Given the description of an element on the screen output the (x, y) to click on. 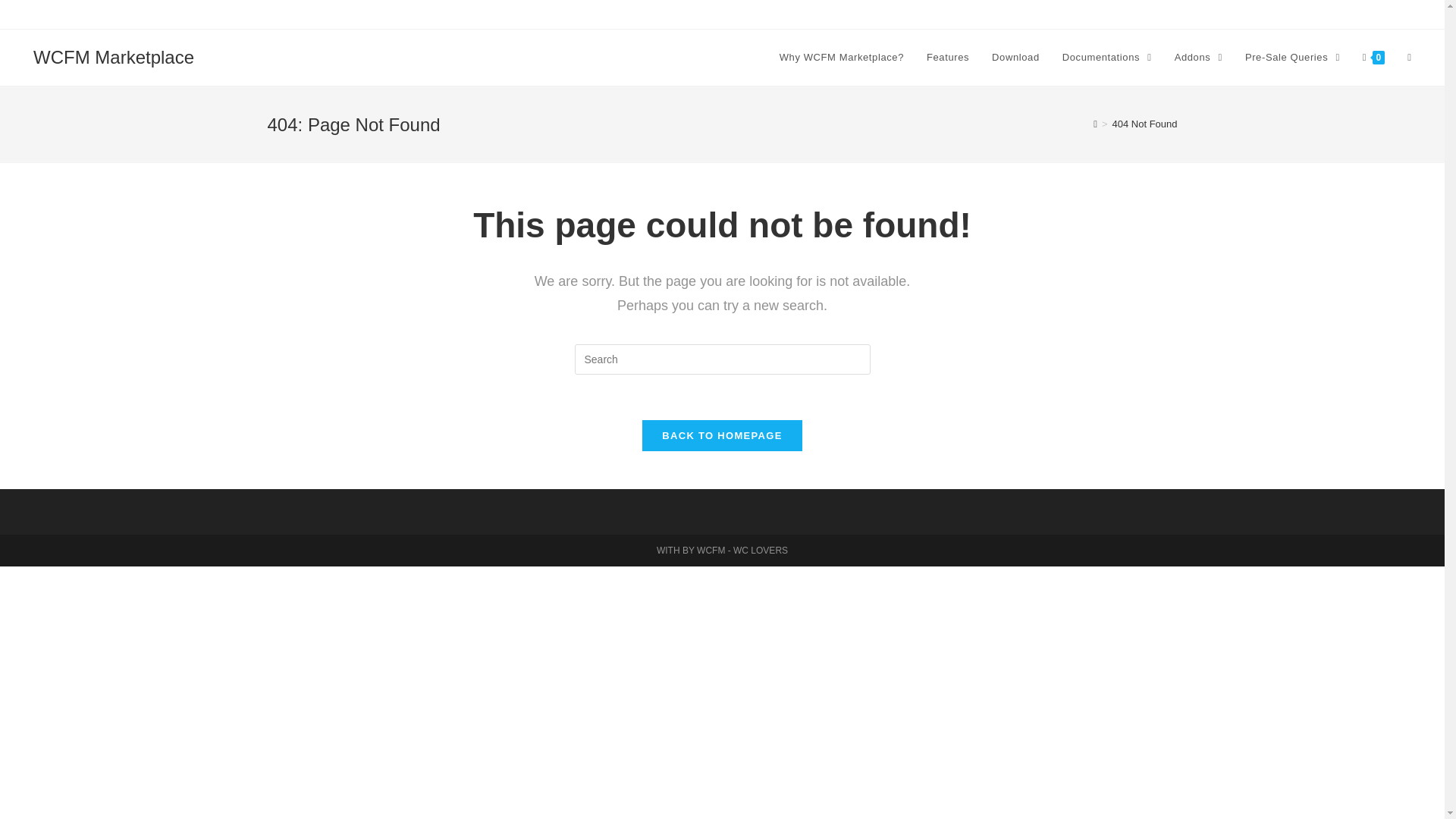
WCFM Marketplace (113, 56)
My account (1406, 13)
404 Not Found (1144, 123)
Download (1015, 57)
Addons (1198, 57)
Become a Vendor (1334, 13)
BACK TO HOMEPAGE (722, 435)
Documentations (1107, 57)
Why WCFM Marketplace? (841, 57)
Store Manager (1257, 13)
Pre-Sale Queries (1292, 57)
Features (947, 57)
